Given the description of an element on the screen output the (x, y) to click on. 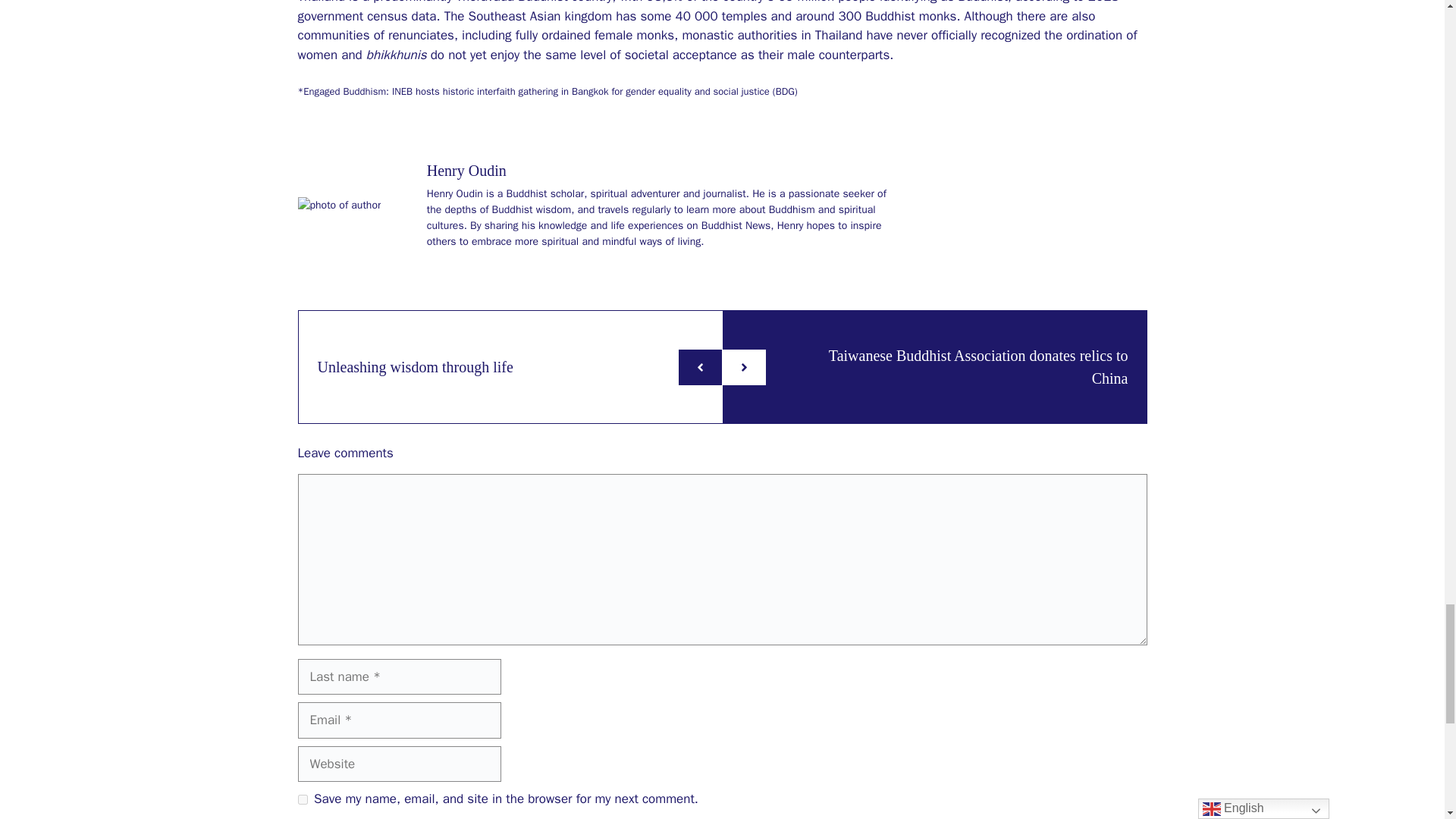
yes (302, 799)
